Given the description of an element on the screen output the (x, y) to click on. 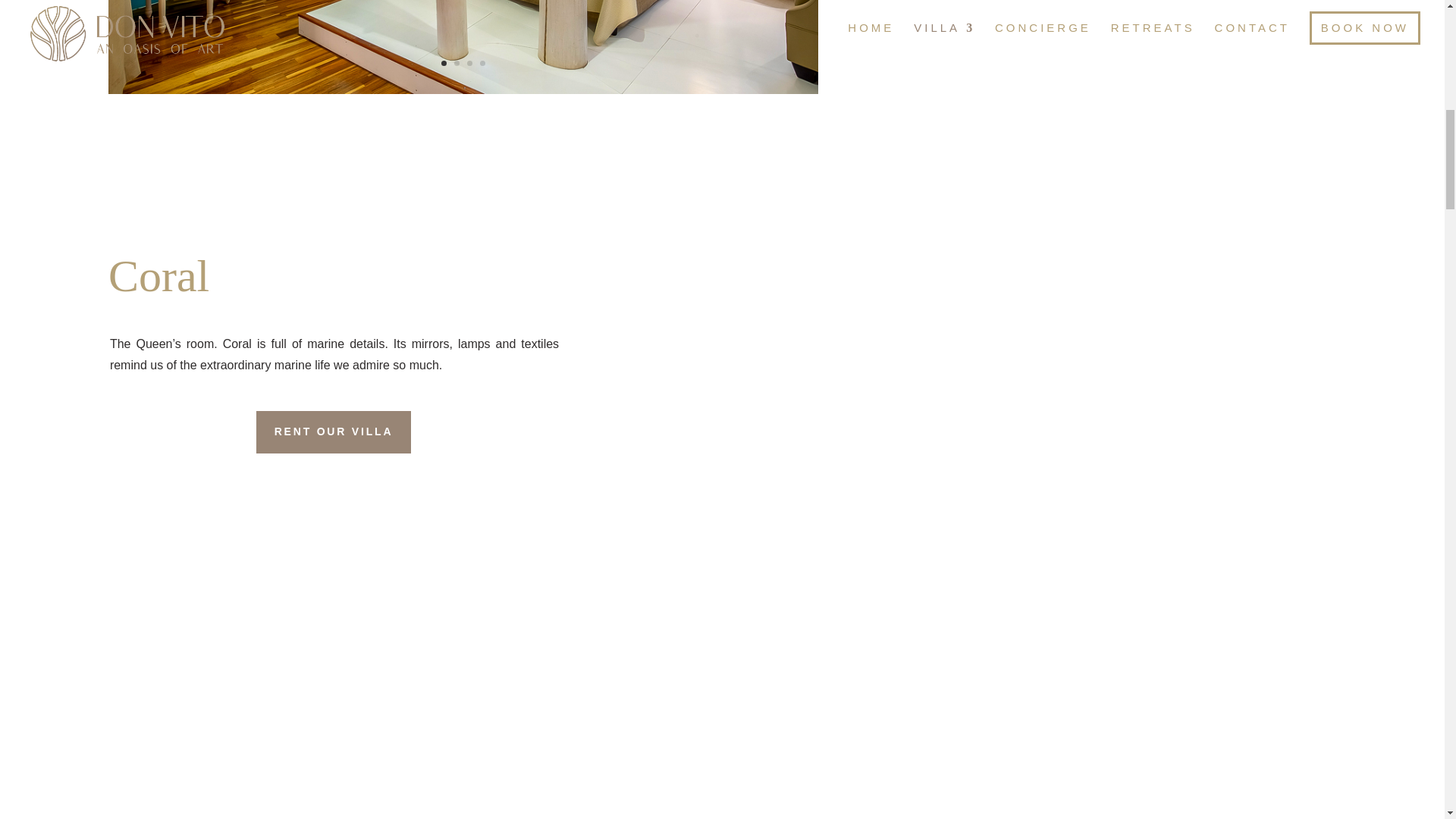
RENT OUR VILLA (334, 432)
2 (457, 63)
1 (443, 63)
